Given the description of an element on the screen output the (x, y) to click on. 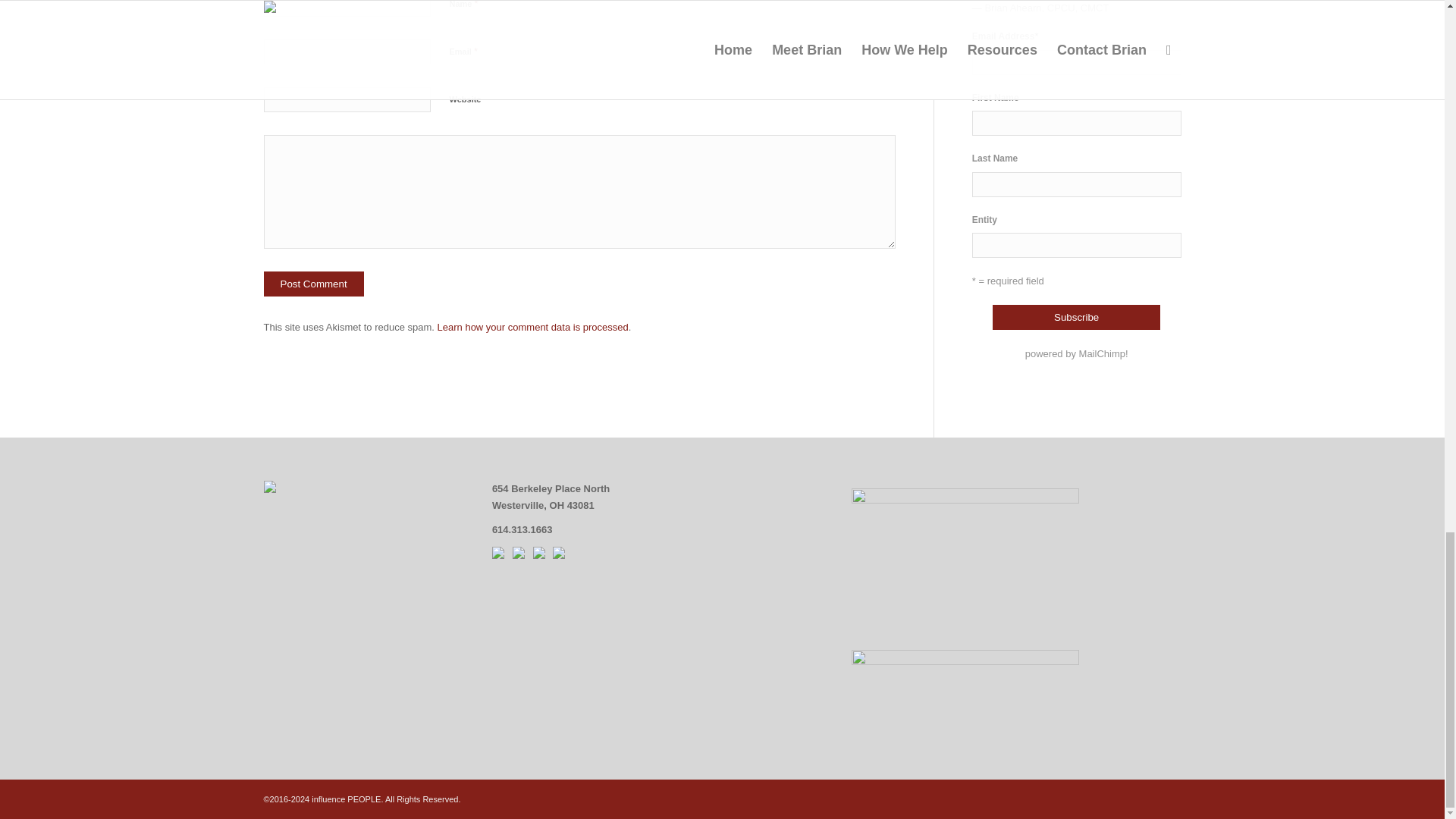
Post Comment (313, 283)
Post Comment (313, 283)
Learn how your comment data is processed (533, 326)
Subscribe (1076, 317)
